Given the description of an element on the screen output the (x, y) to click on. 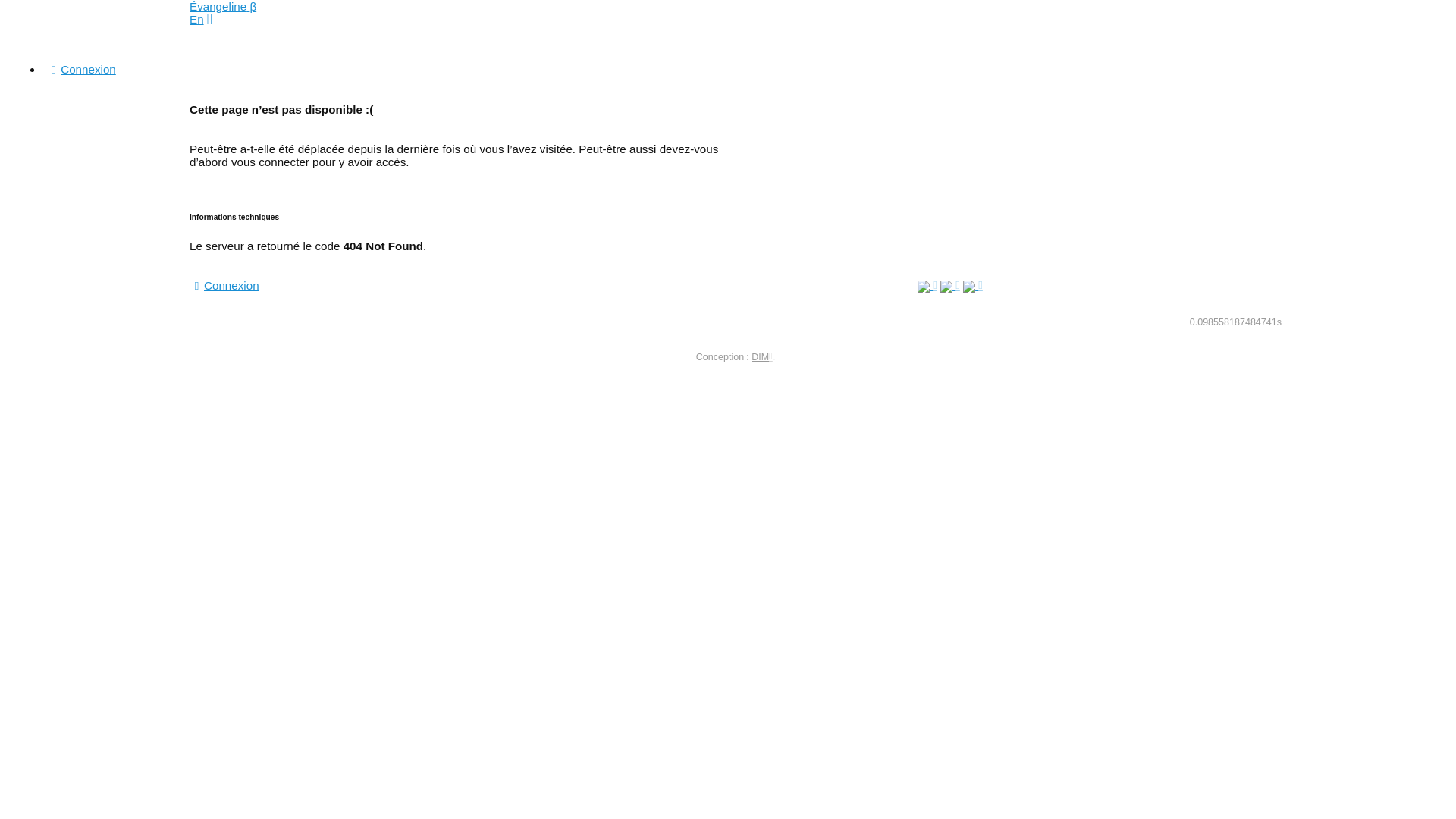
En Element type: text (196, 18)
Connexion Element type: text (224, 285)
DIM Element type: text (761, 356)
Connexion Element type: text (81, 68)
